Given the description of an element on the screen output the (x, y) to click on. 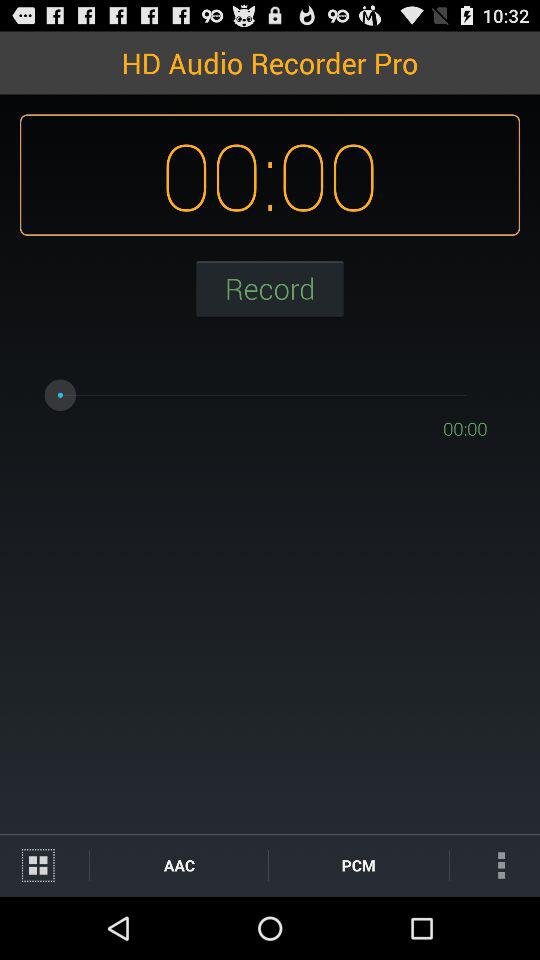
scroll to record button (269, 288)
